Given the description of an element on the screen output the (x, y) to click on. 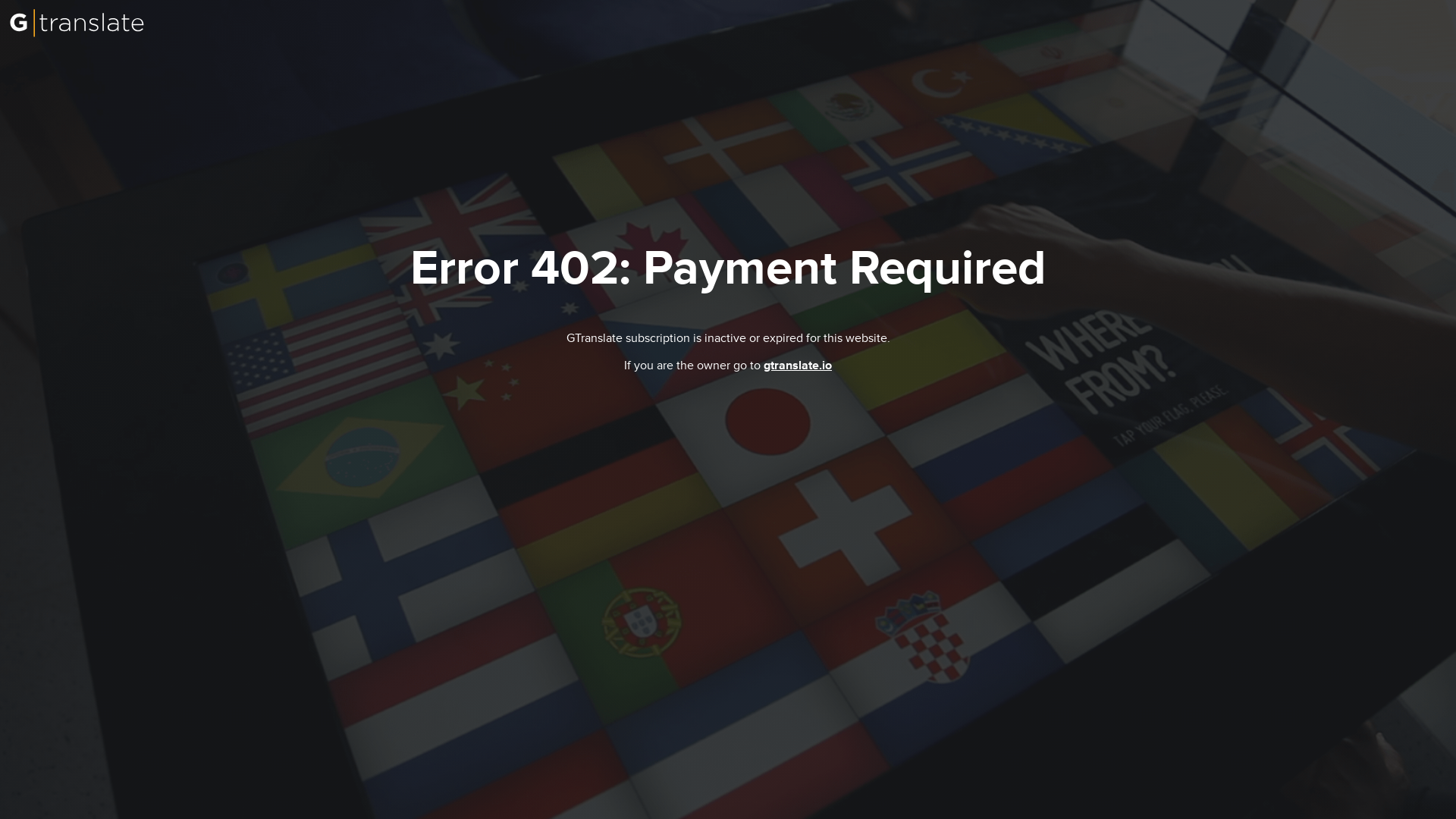
gtranslate.io (796, 365)
